Given the description of an element on the screen output the (x, y) to click on. 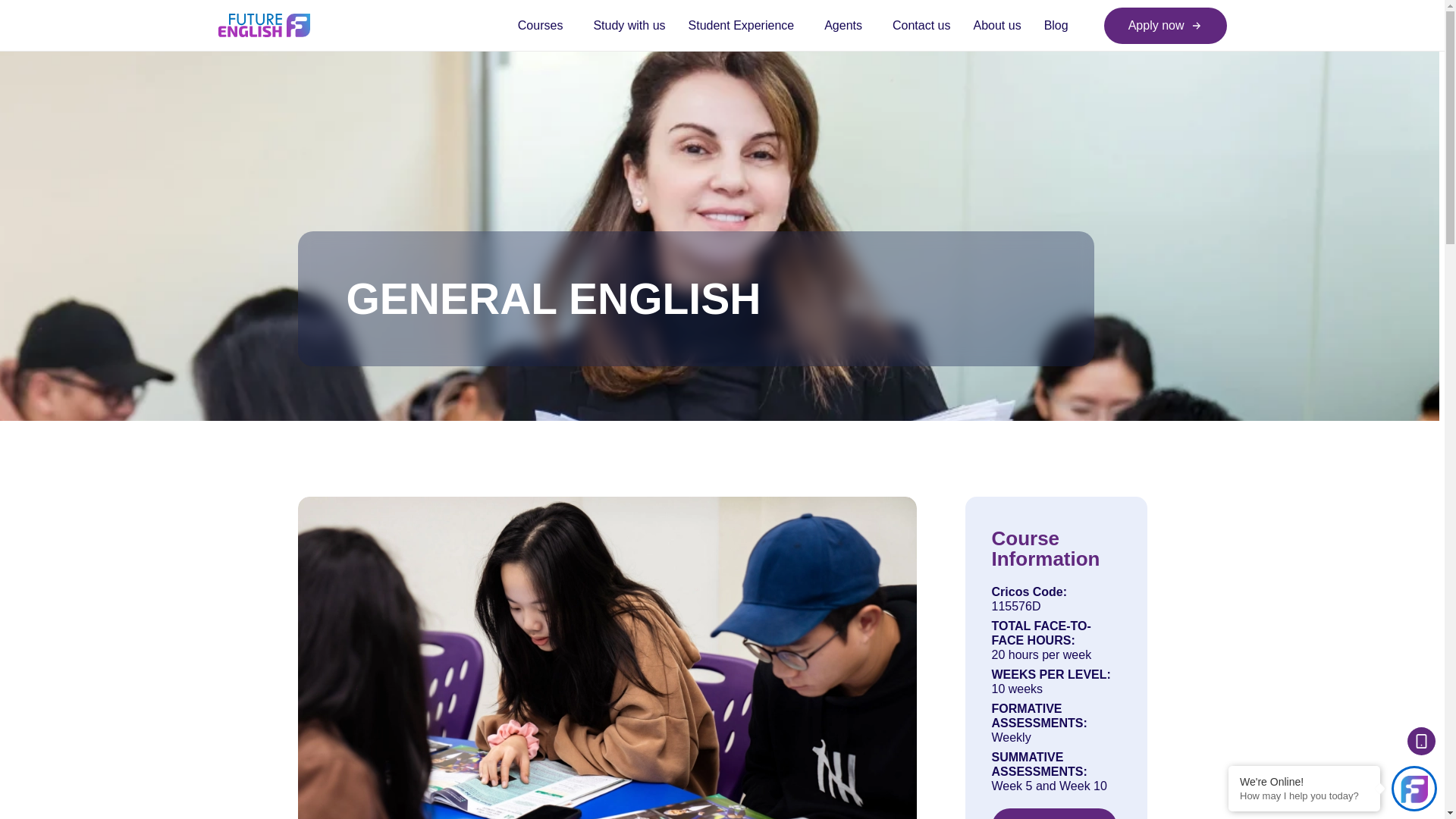
Study with us (628, 25)
Agents (846, 25)
Apply now (1165, 25)
About us (996, 25)
Student Experience (745, 25)
Apply now (1054, 813)
How may I help you today? (1304, 795)
Courses (544, 25)
We're Online! (1304, 781)
Blog (1050, 25)
Contact us (920, 25)
